Given the description of an element on the screen output the (x, y) to click on. 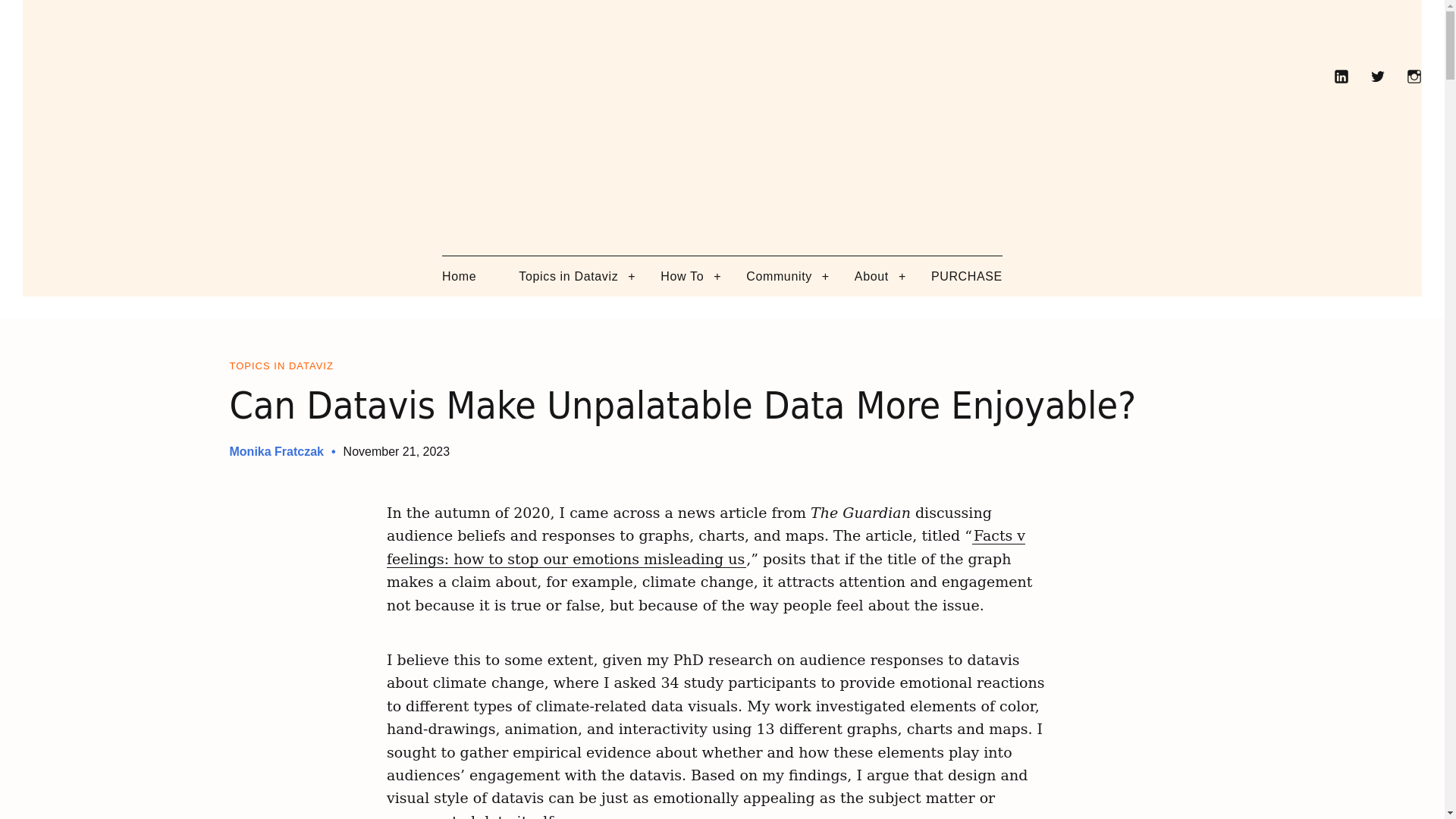
PURCHASE (967, 276)
LinkedIn (1341, 75)
Community (778, 276)
How To (682, 276)
November 21, 2023 (396, 451)
Monika Fratczak (275, 451)
Twitter (1378, 75)
Topics in Dataviz (280, 366)
Instagram (1414, 75)
Topics in Dataviz (567, 276)
